Given the description of an element on the screen output the (x, y) to click on. 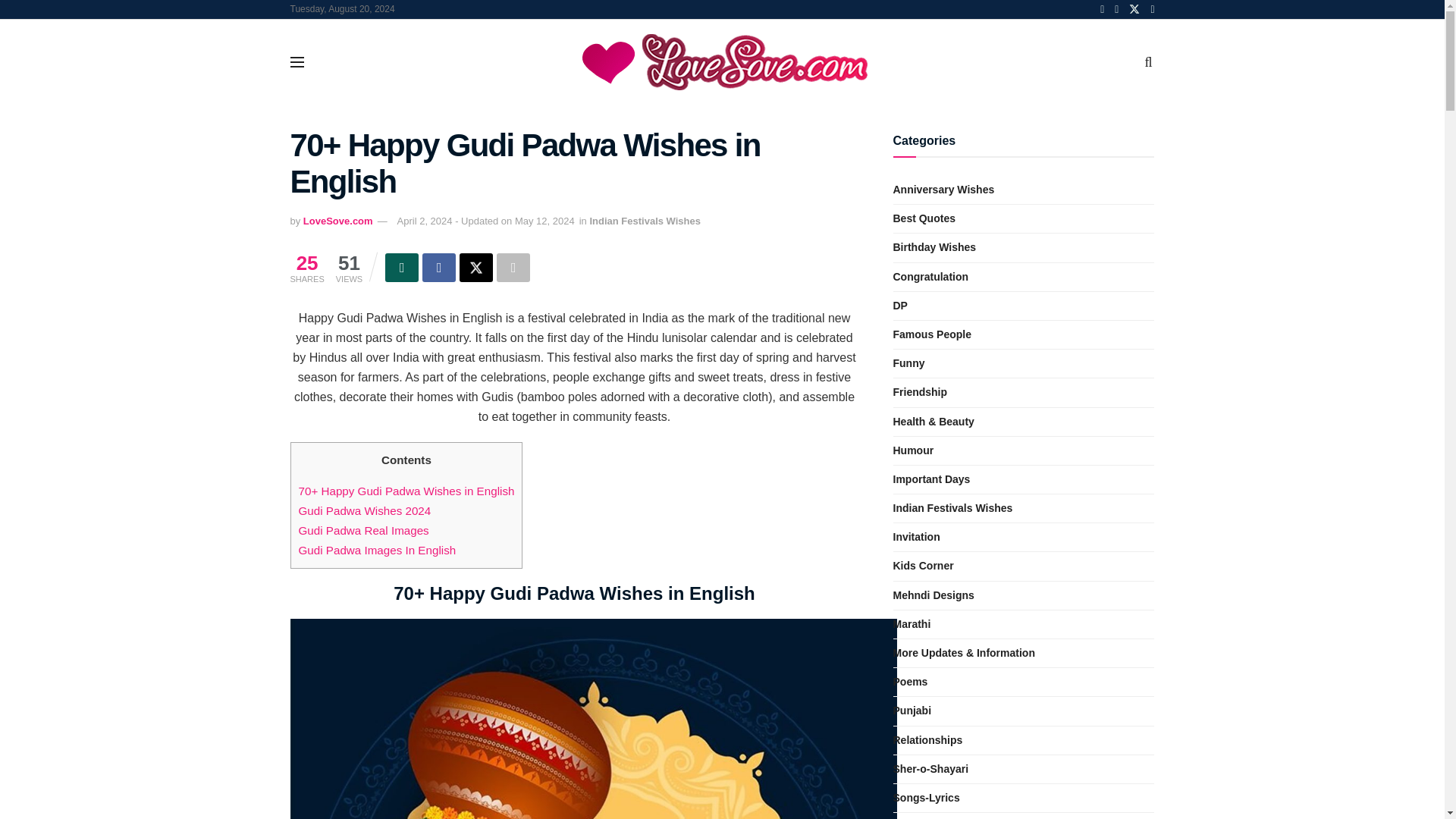
LoveSove.com (337, 220)
Gudi Padwa Wishes 2024 (364, 510)
April 2, 2024 - Updated on May 12, 2024 (486, 220)
Gudi Padwa Images In English (377, 549)
Gudi Padwa Real Images (363, 530)
Indian Festivals Wishes (644, 220)
